Given the description of an element on the screen output the (x, y) to click on. 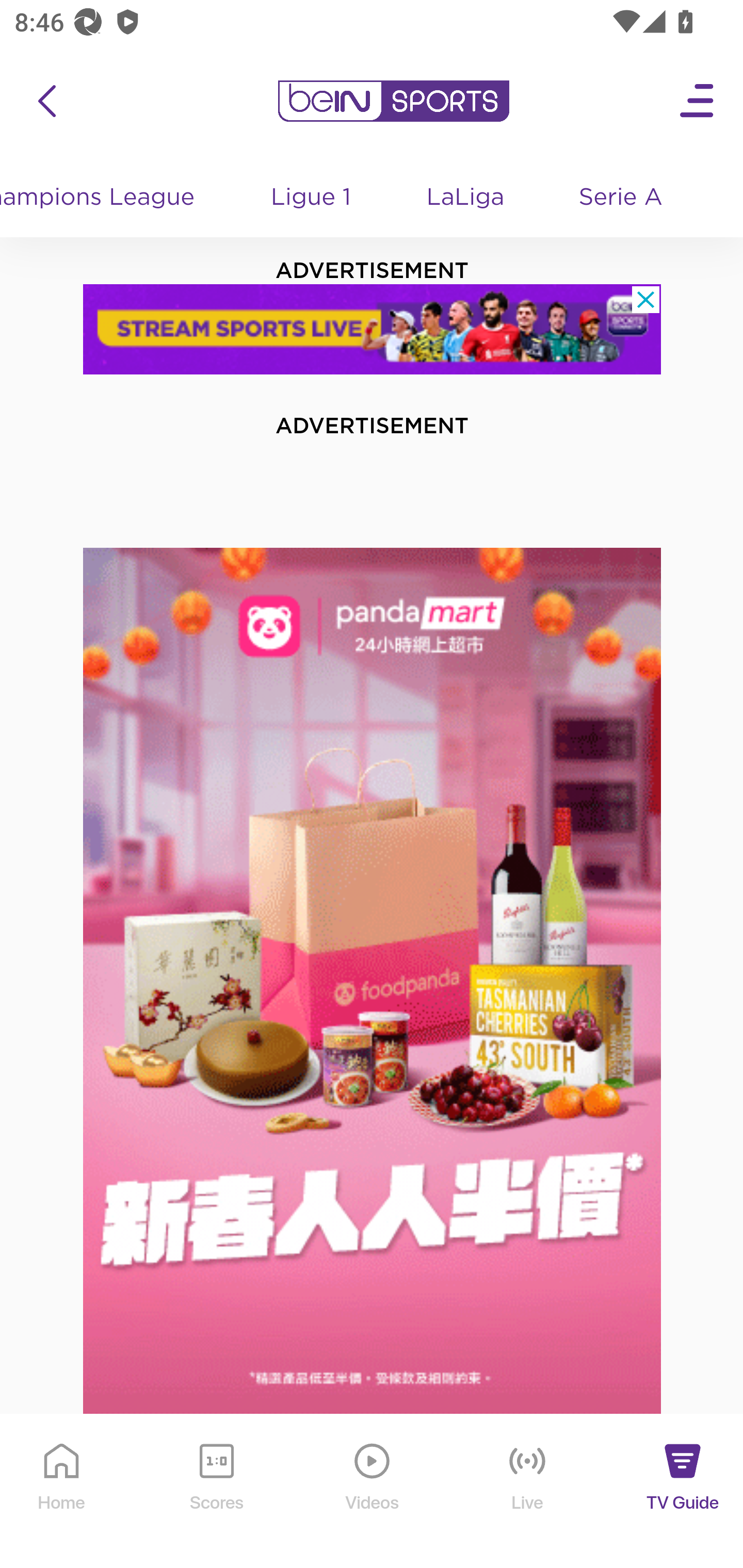
en-my?platform=mobile_android bein logo (392, 101)
icon back (46, 101)
Open Menu Icon (697, 101)
UEFA Champions League (107, 198)
Ligue 1 (312, 198)
LaLiga (466, 198)
Serie A (621, 198)
l8psv8uu (372, 328)
Advertisement (372, 981)
Home Home Icon Home (61, 1491)
Scores Scores Icon Scores (216, 1491)
Videos Videos Icon Videos (372, 1491)
TV Guide TV Guide Icon TV Guide (682, 1491)
